Given the description of an element on the screen output the (x, y) to click on. 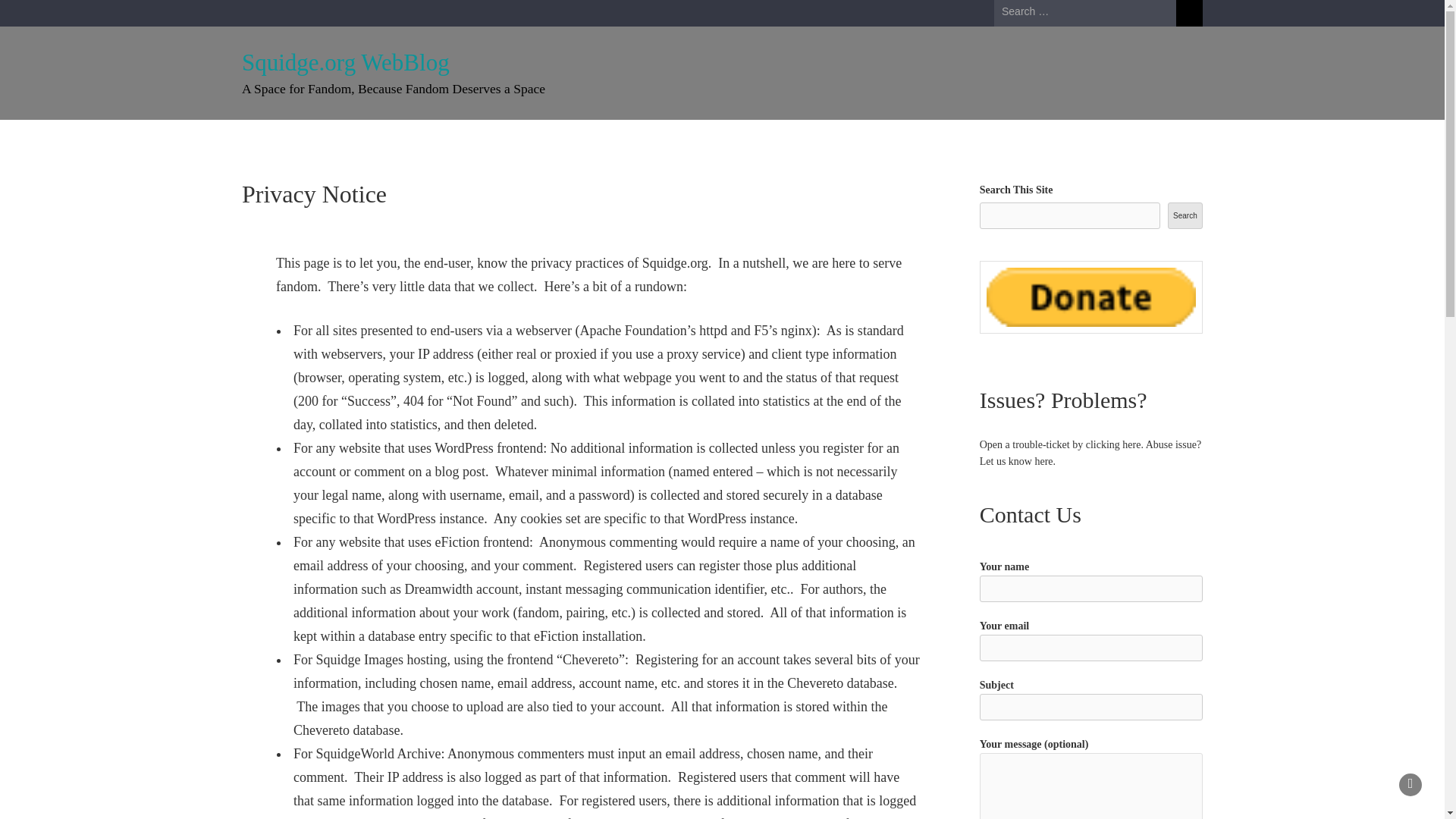
Monthly Expenses (595, 138)
Online Donation (359, 138)
Search (1184, 215)
Search (1189, 13)
Home (273, 138)
Squidge.org WebBlog (345, 62)
Search (1189, 13)
Squidge.org Policies (475, 138)
Abuse issue? Let us know here. (1090, 452)
Search for: (1085, 11)
Search (1189, 13)
PayPal - The safer, easier way to pay online! (1090, 297)
Open a trouble-ticket by clicking here. (1060, 444)
